Given the description of an element on the screen output the (x, y) to click on. 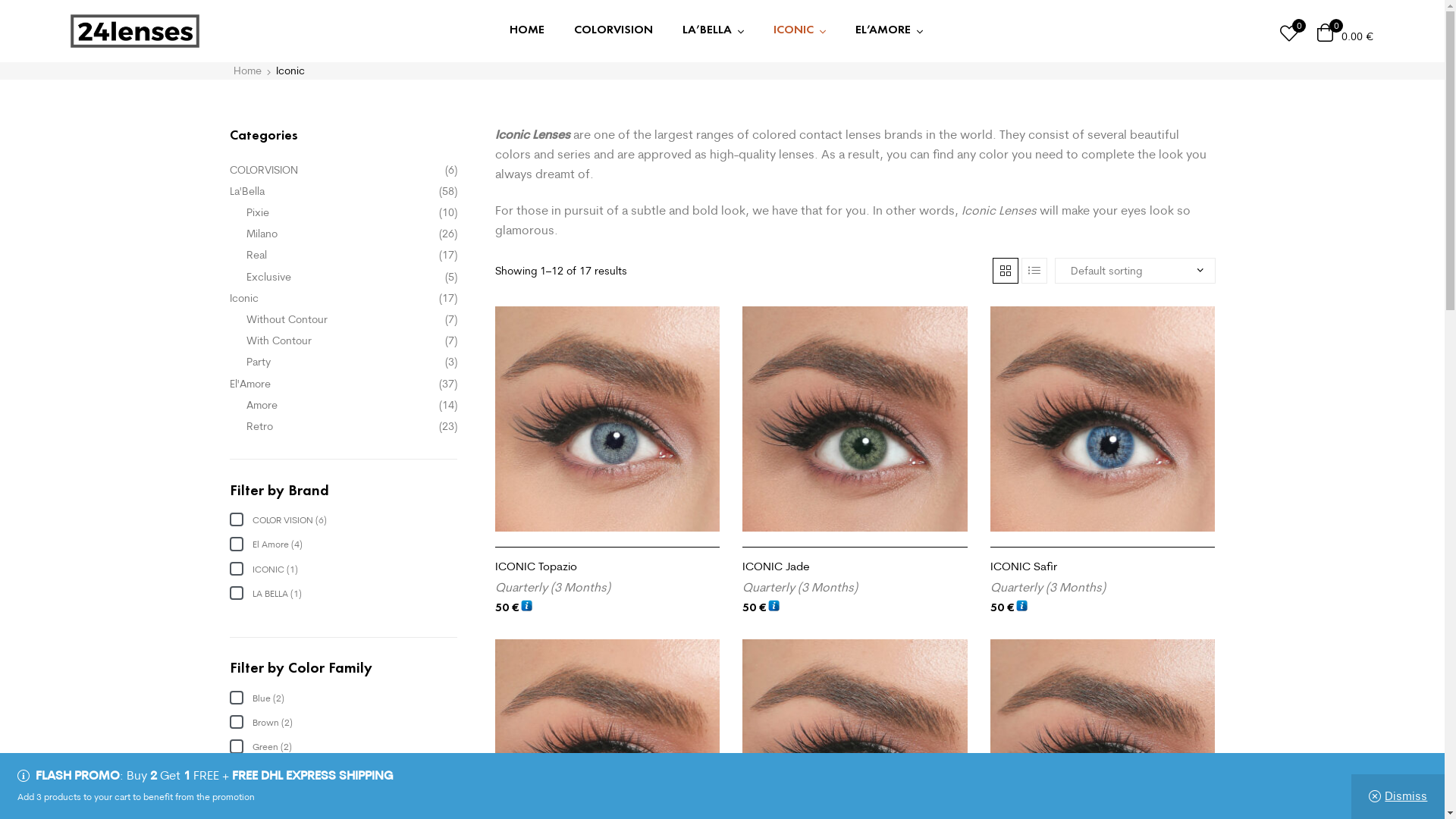
ICONIC Element type: text (799, 31)
ICONIC Safir Element type: text (1102, 566)
Without Contour Element type: text (286, 319)
Milano Element type: text (261, 233)
Real Element type: text (256, 254)
Party Element type: text (258, 361)
Grid View Element type: hover (1005, 270)
Iconic Element type: text (243, 297)
Exclusive Element type: text (268, 276)
With Contour Element type: text (278, 340)
List View Element type: hover (1034, 270)
Amore Element type: text (261, 404)
COLORVISION Element type: text (612, 29)
0 Element type: text (1289, 31)
Retro Element type: text (259, 426)
El'Amore Element type: text (249, 383)
ICONIC Topazio Element type: text (606, 566)
HOME Element type: text (526, 29)
Home Element type: text (247, 70)
La'Bella Element type: text (246, 190)
ICONIC Jade Element type: text (854, 566)
Pixie Element type: text (257, 212)
COLORVISION Element type: text (263, 169)
